Given the description of an element on the screen output the (x, y) to click on. 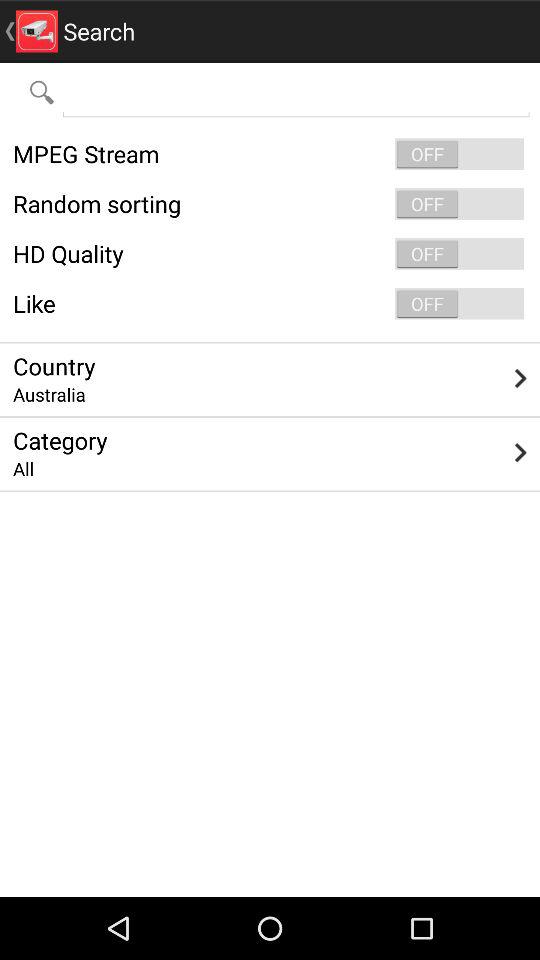
type search (295, 91)
